Given the description of an element on the screen output the (x, y) to click on. 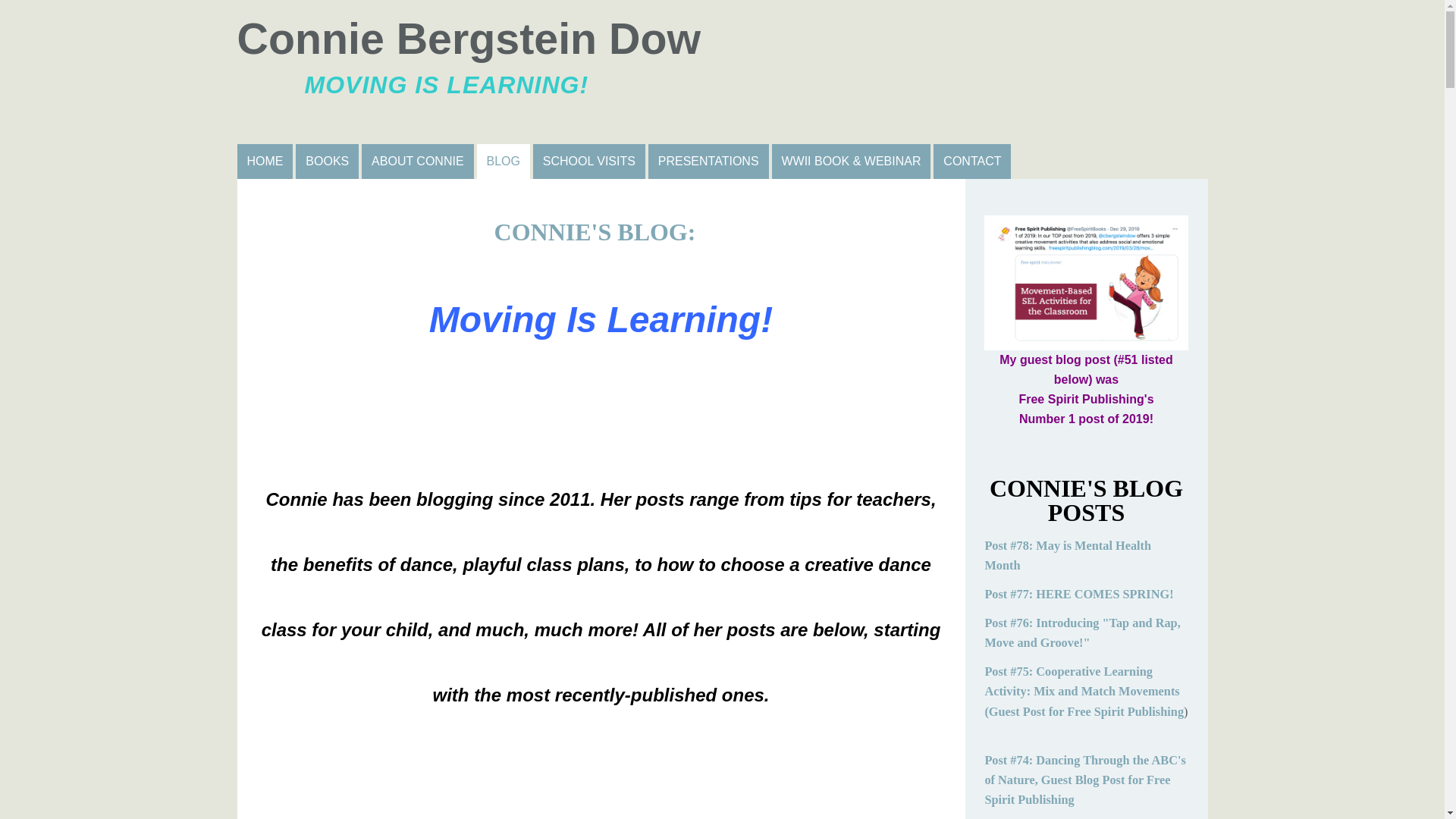
BLOG (503, 161)
BOOKS (326, 161)
SCHOOL VISITS (588, 161)
ABOUT CONNIE (721, 71)
CONTACT (417, 161)
PRESENTATIONS (971, 161)
HOME (707, 161)
